Given the description of an element on the screen output the (x, y) to click on. 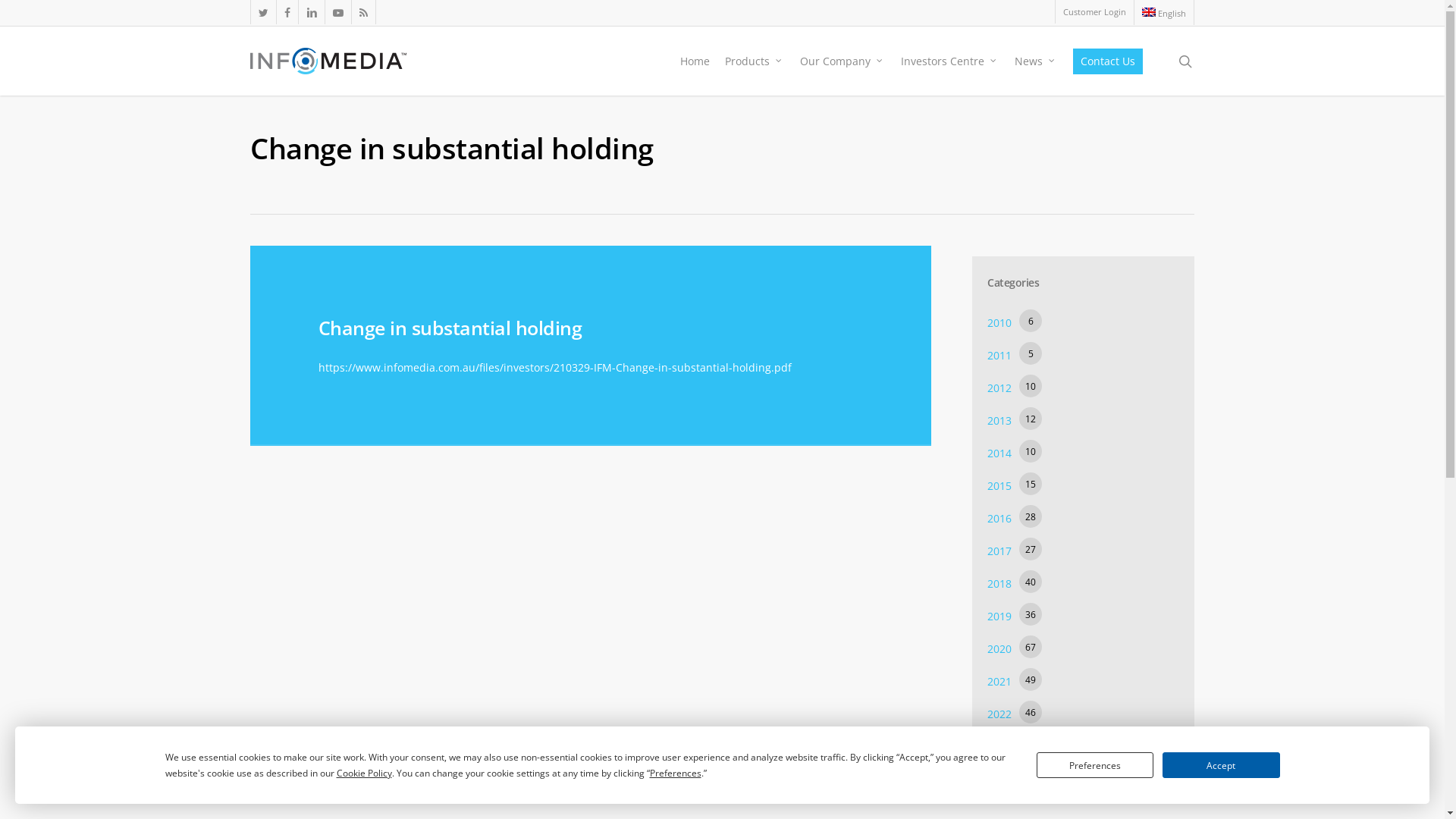
youtube Element type: text (337, 12)
2015 Element type: text (999, 485)
2016 Element type: text (999, 518)
2019 Element type: text (999, 615)
Contact Us Element type: text (1107, 61)
2017 Element type: text (999, 550)
2018 Element type: text (999, 583)
RSS Element type: text (363, 12)
Products Element type: text (754, 61)
2010 Element type: text (999, 322)
Investors Centre Element type: text (949, 61)
2021 Element type: text (999, 681)
2012 Element type: text (999, 387)
Our Company Element type: text (842, 61)
News Element type: text (1035, 61)
Home Element type: text (694, 61)
facebook Element type: text (287, 12)
2023 Element type: text (999, 746)
2011 Element type: text (999, 355)
search Element type: text (1185, 60)
linkedin Element type: text (311, 12)
2013 Element type: text (999, 420)
Preferences Element type: text (1094, 765)
English Element type: text (1163, 12)
twitter Element type: text (263, 12)
Customer Login Element type: text (1093, 11)
2014 Element type: text (999, 452)
2022 Element type: text (999, 713)
2020 Element type: text (999, 648)
Accept Element type: text (1220, 765)
